Given the description of an element on the screen output the (x, y) to click on. 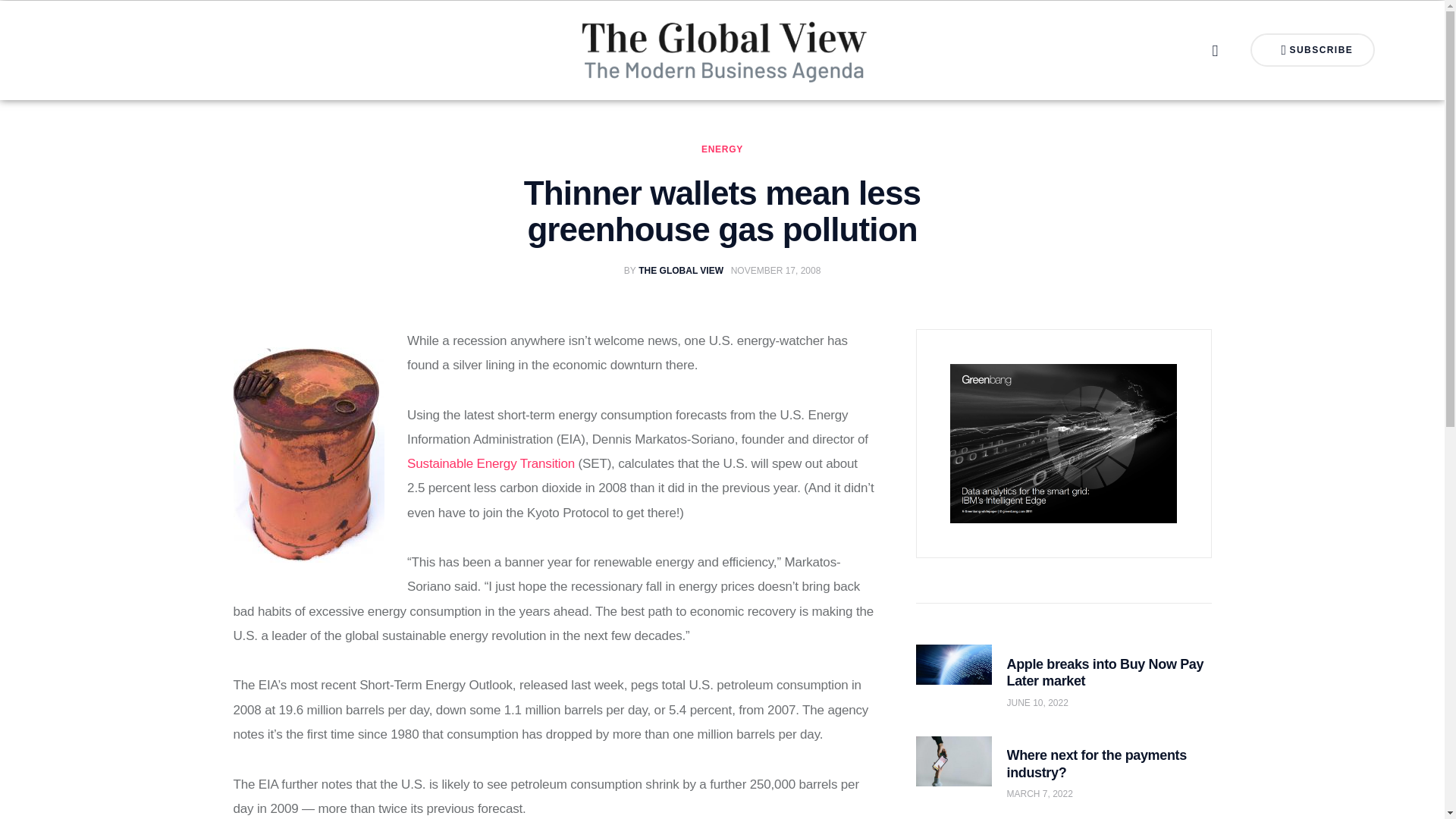
SET (677, 270)
SUBSCRIBE (491, 463)
ENERGY (1312, 49)
